Given the description of an element on the screen output the (x, y) to click on. 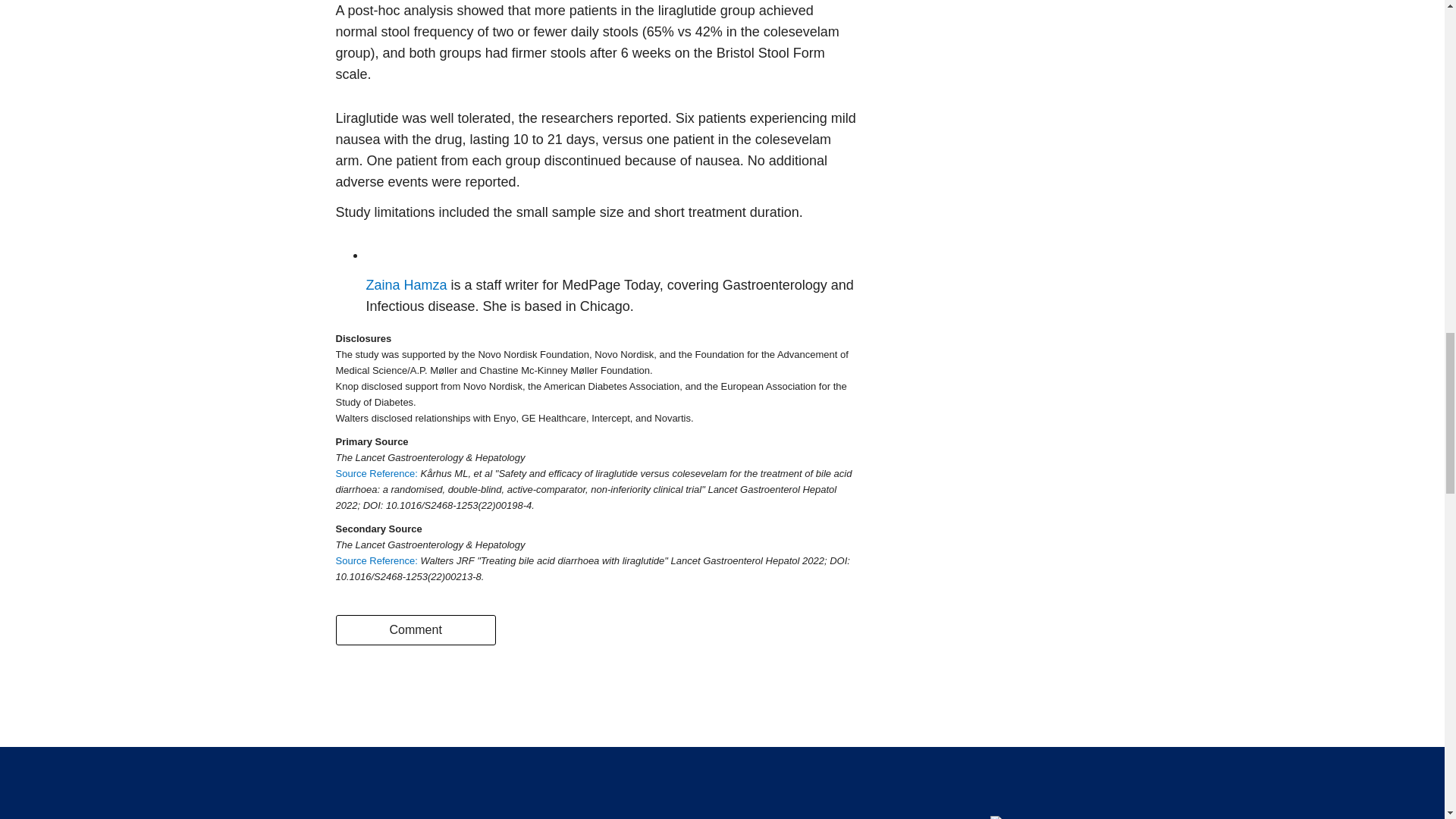
Opens in a new tab or window (377, 560)
Visit us on TikTok. Opens in a new tab or window (801, 782)
Visit us on X. Opens in a new tab or window (642, 782)
Visit us on Instagram. Opens in a new tab or window (696, 782)
Visit us on Facebook. Opens in a new tab or window (590, 782)
Opens in a new tab or window (377, 473)
Visit us on YouTube. Opens in a new tab or window (853, 782)
Visit us on LinkedIn. Opens in a new tab or window (748, 782)
